Given the description of an element on the screen output the (x, y) to click on. 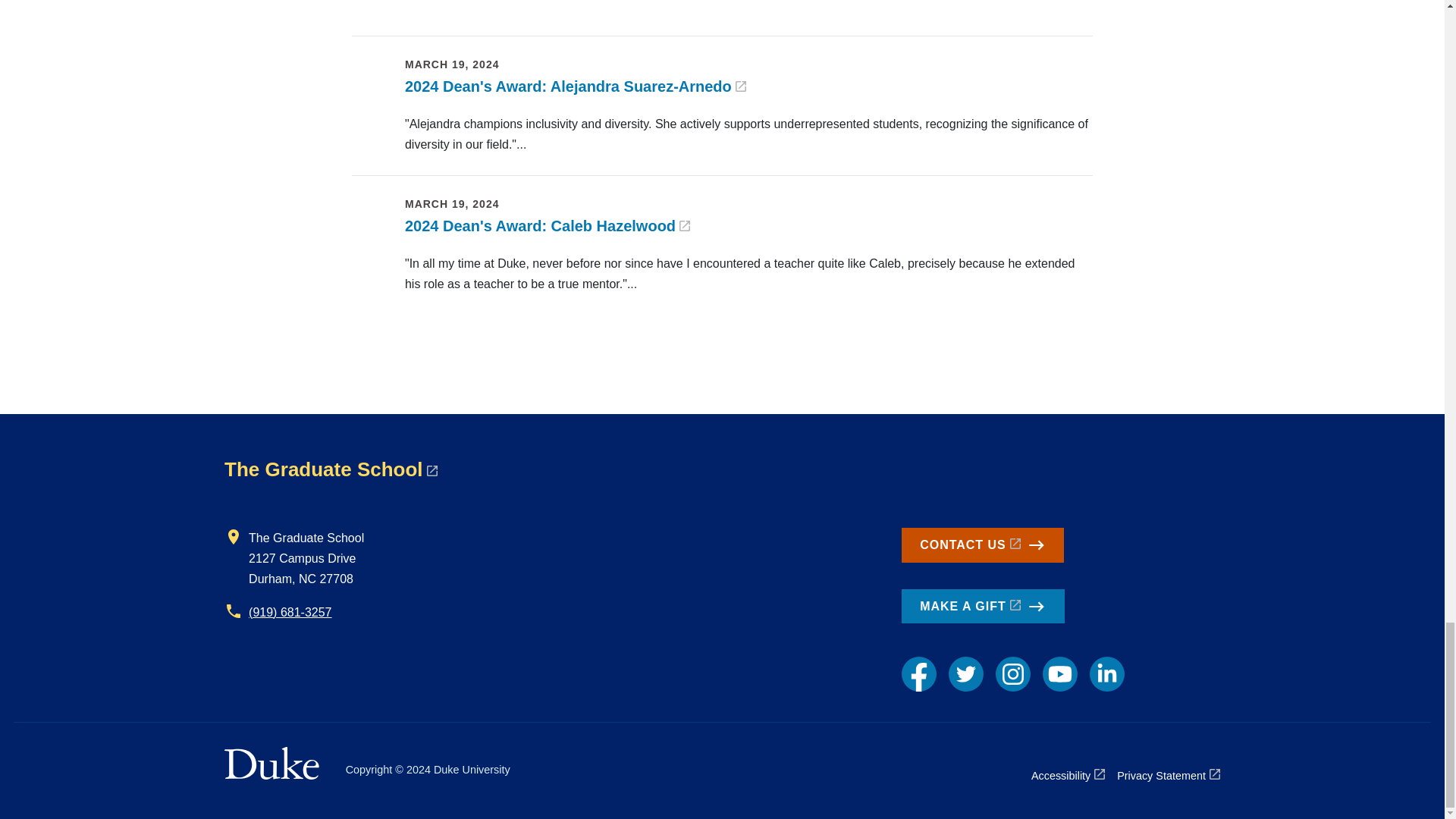
Facebook link (918, 673)
LinkedIn link (1106, 673)
Instagram link (1012, 673)
YouTube link (1059, 673)
Twitter link (966, 673)
